Given the description of an element on the screen output the (x, y) to click on. 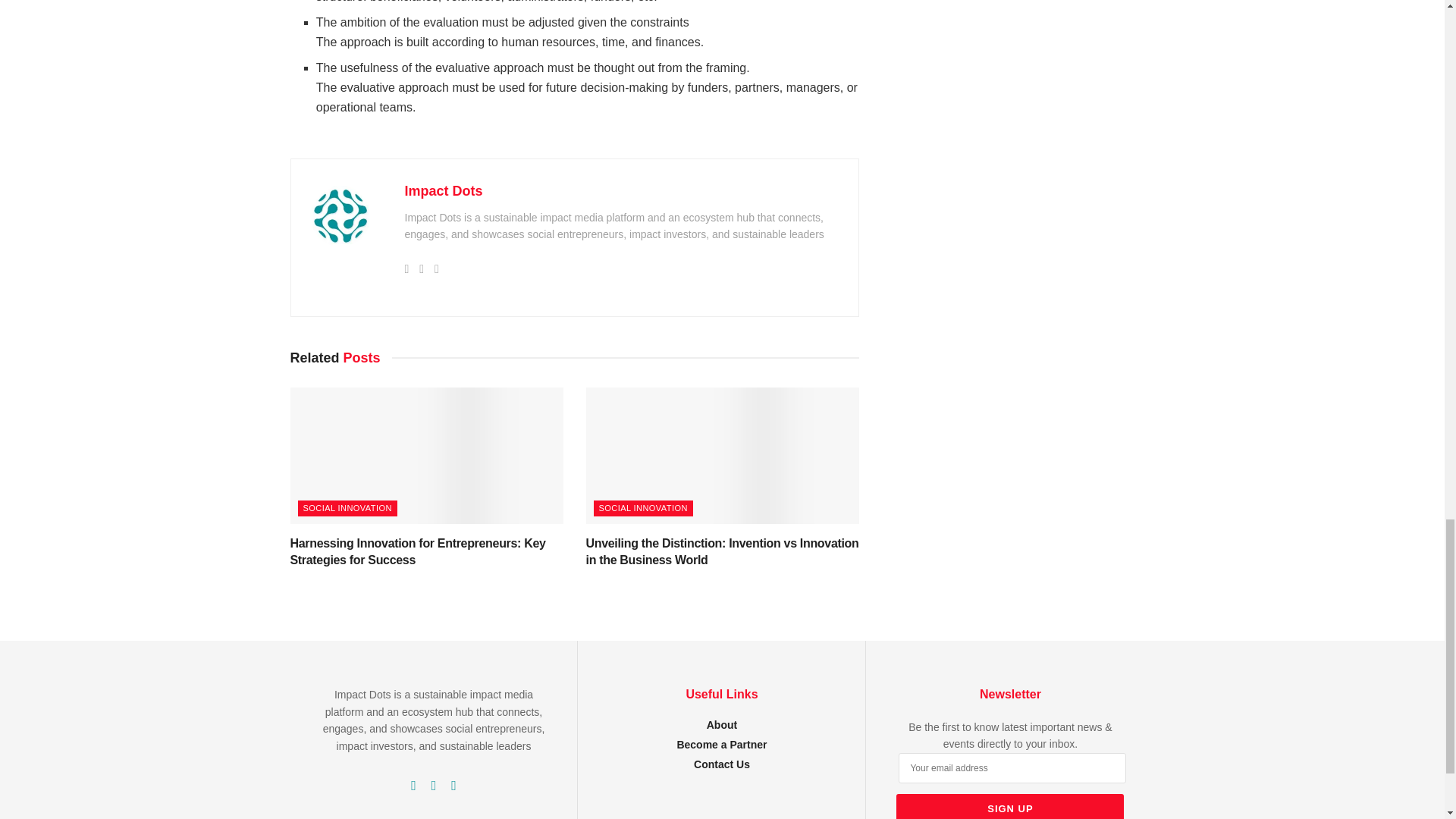
SOCIAL INNOVATION (346, 508)
Sign up (1010, 806)
SOCIAL INNOVATION (642, 508)
Impact Dots (443, 191)
